Given the description of an element on the screen output the (x, y) to click on. 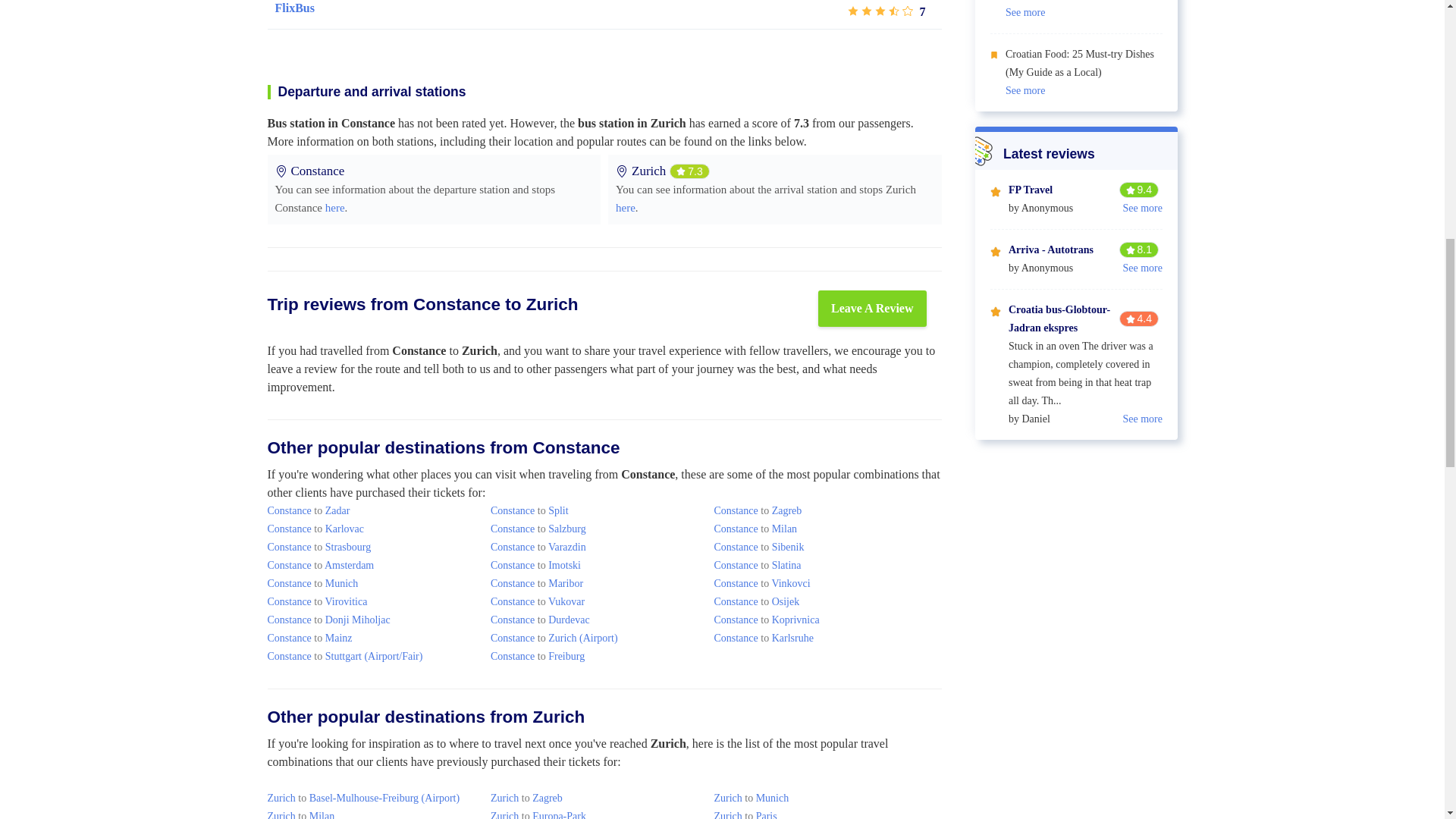
Leave A Review (872, 308)
Constance to Imotski (535, 564)
Constance to Strasbourg (318, 546)
Constance to Zadar (307, 510)
Constance to Sibenik (758, 546)
Constance to Salzburg (538, 528)
Constance to Split (529, 510)
Constance to Milan (754, 528)
Constance to Zagreb (757, 510)
Constance to Munich (312, 583)
Constance to Slatina (756, 564)
FlixBus (294, 8)
Constance to Karlovac (315, 528)
here (334, 207)
Constance to Amsterdam (320, 564)
